Given the description of an element on the screen output the (x, y) to click on. 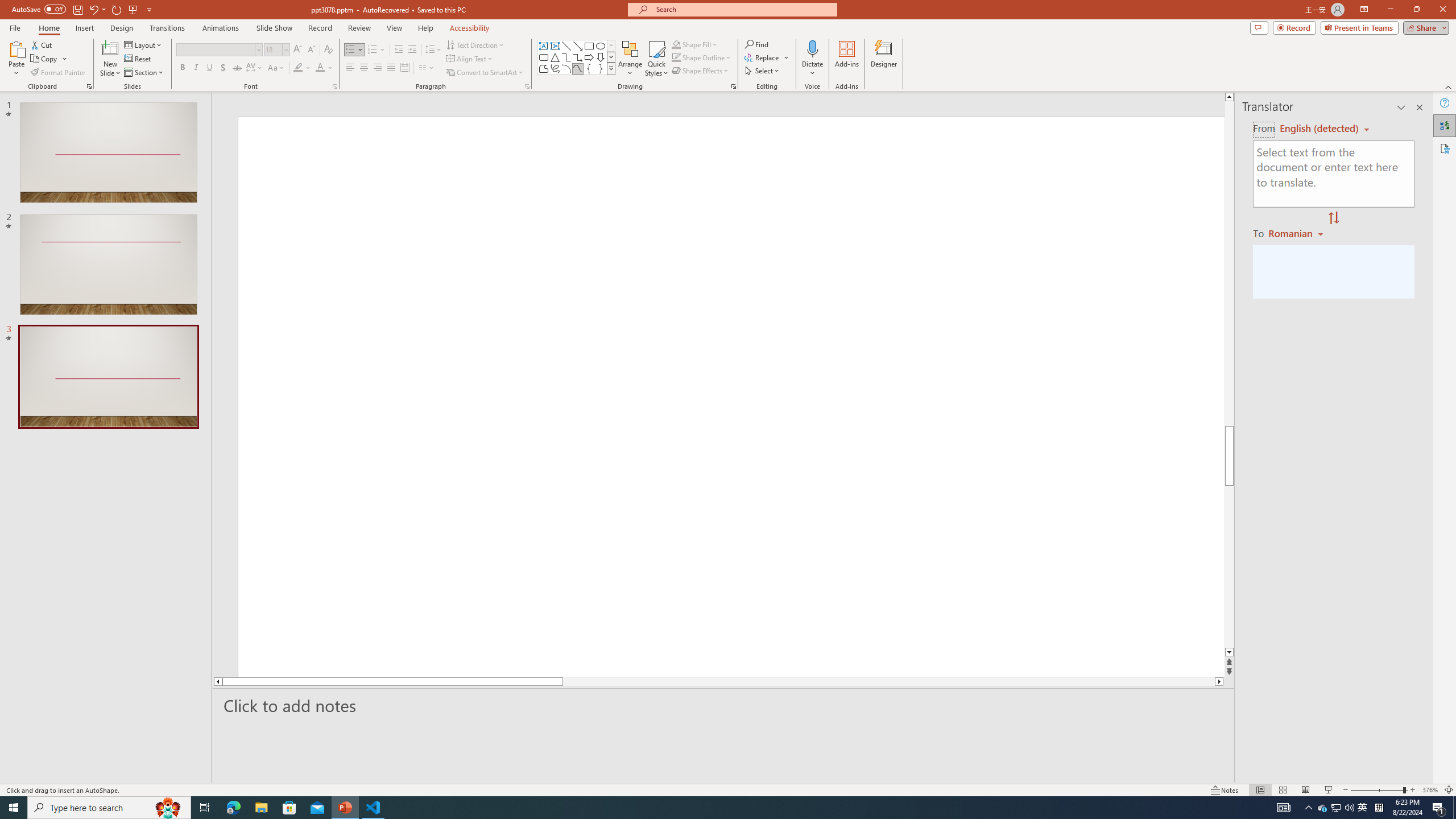
Isosceles Triangle (554, 57)
Row up (611, 45)
Home (48, 28)
Line (566, 45)
Font... (334, 85)
Zoom 376% (1430, 790)
Restore Down (1416, 9)
Format Object... (733, 85)
Page down (1229, 566)
Task Pane Options (1400, 107)
Cut (42, 44)
Normal (1260, 790)
Close pane (1419, 107)
